Given the description of an element on the screen output the (x, y) to click on. 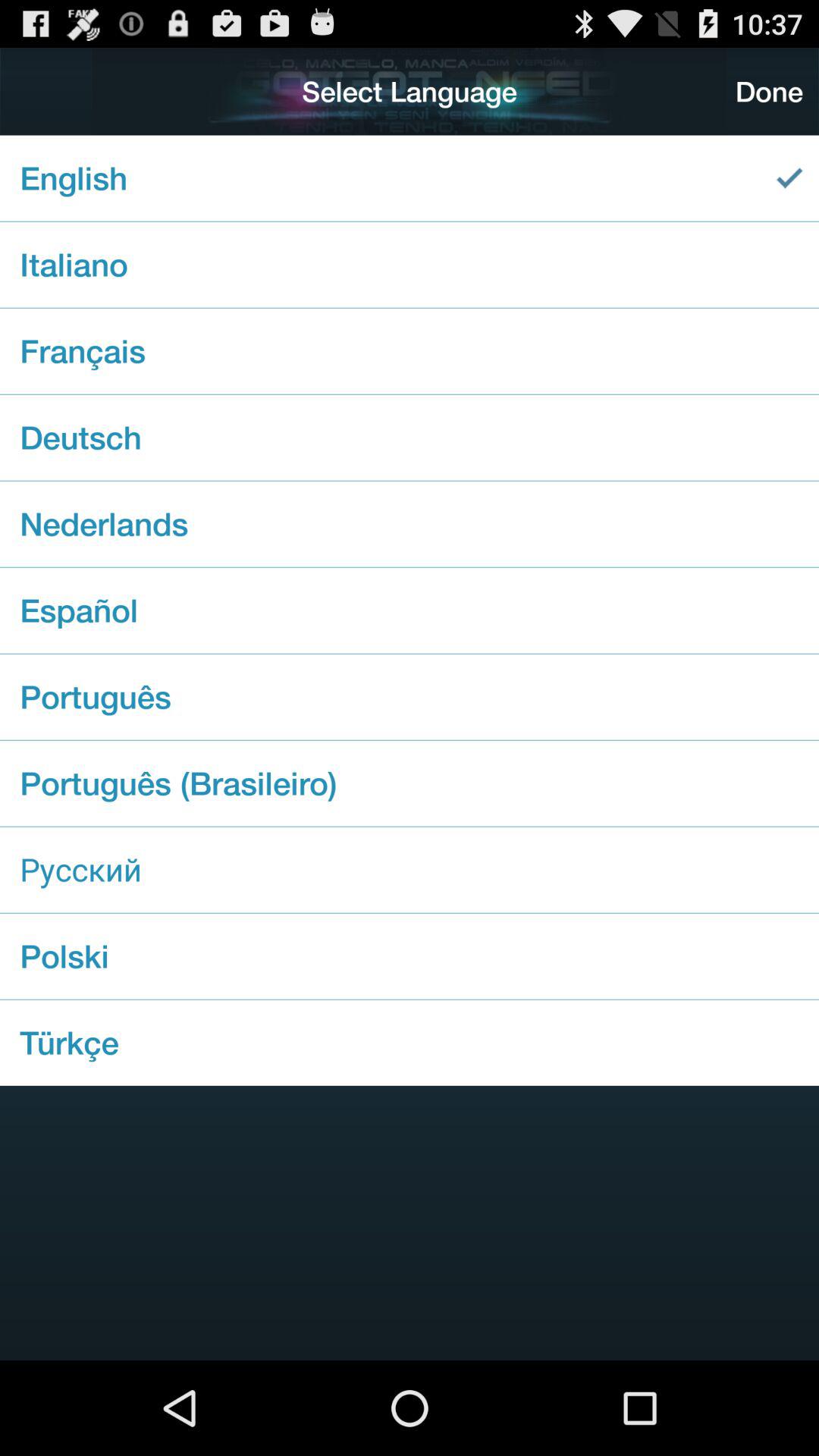
turn on item below the polski checkbox (409, 1042)
